Given the description of an element on the screen output the (x, y) to click on. 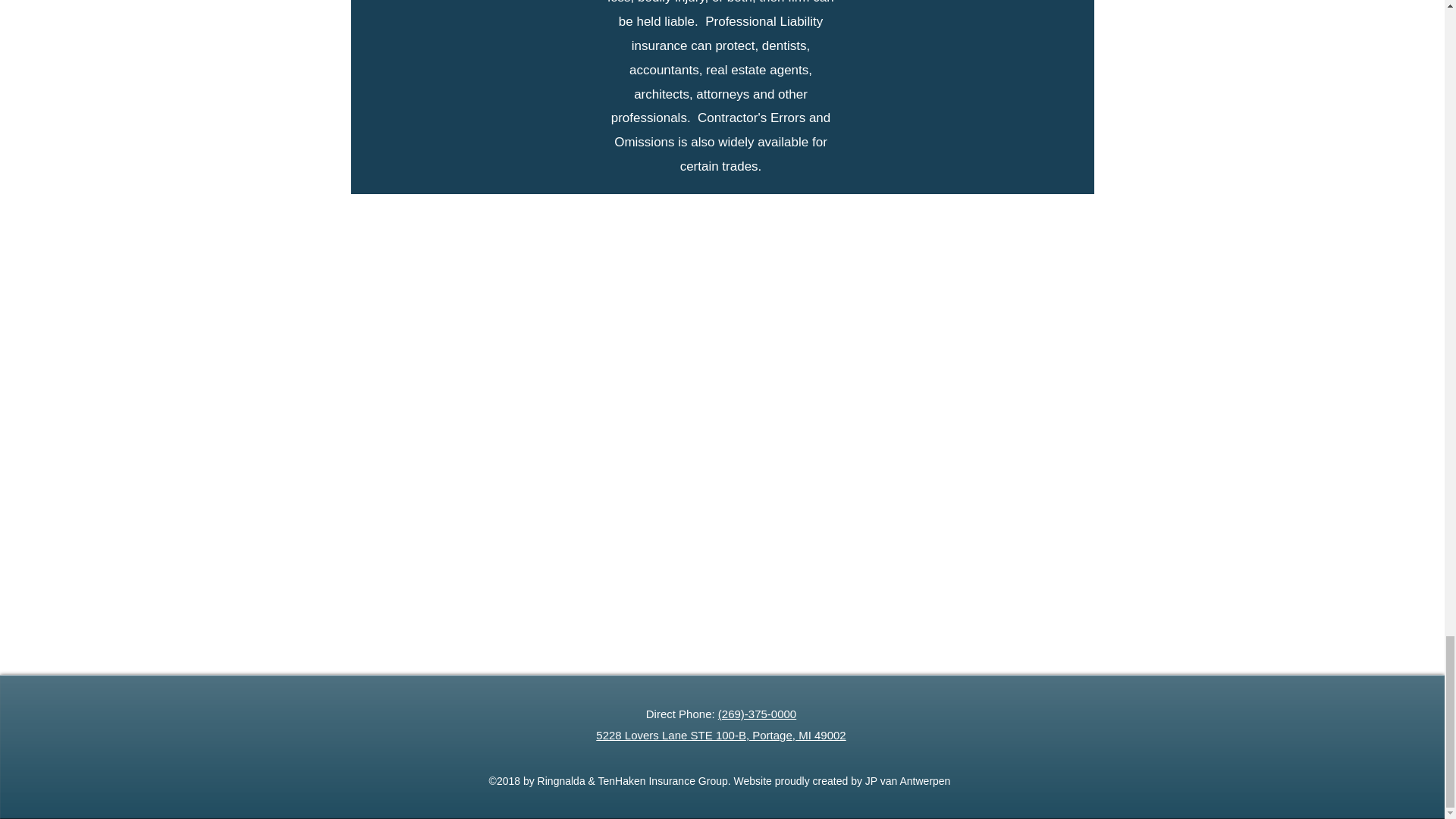
5228 Lovers Lane STE 100-B, Portage, MI 49002 (720, 735)
